Given the description of an element on the screen output the (x, y) to click on. 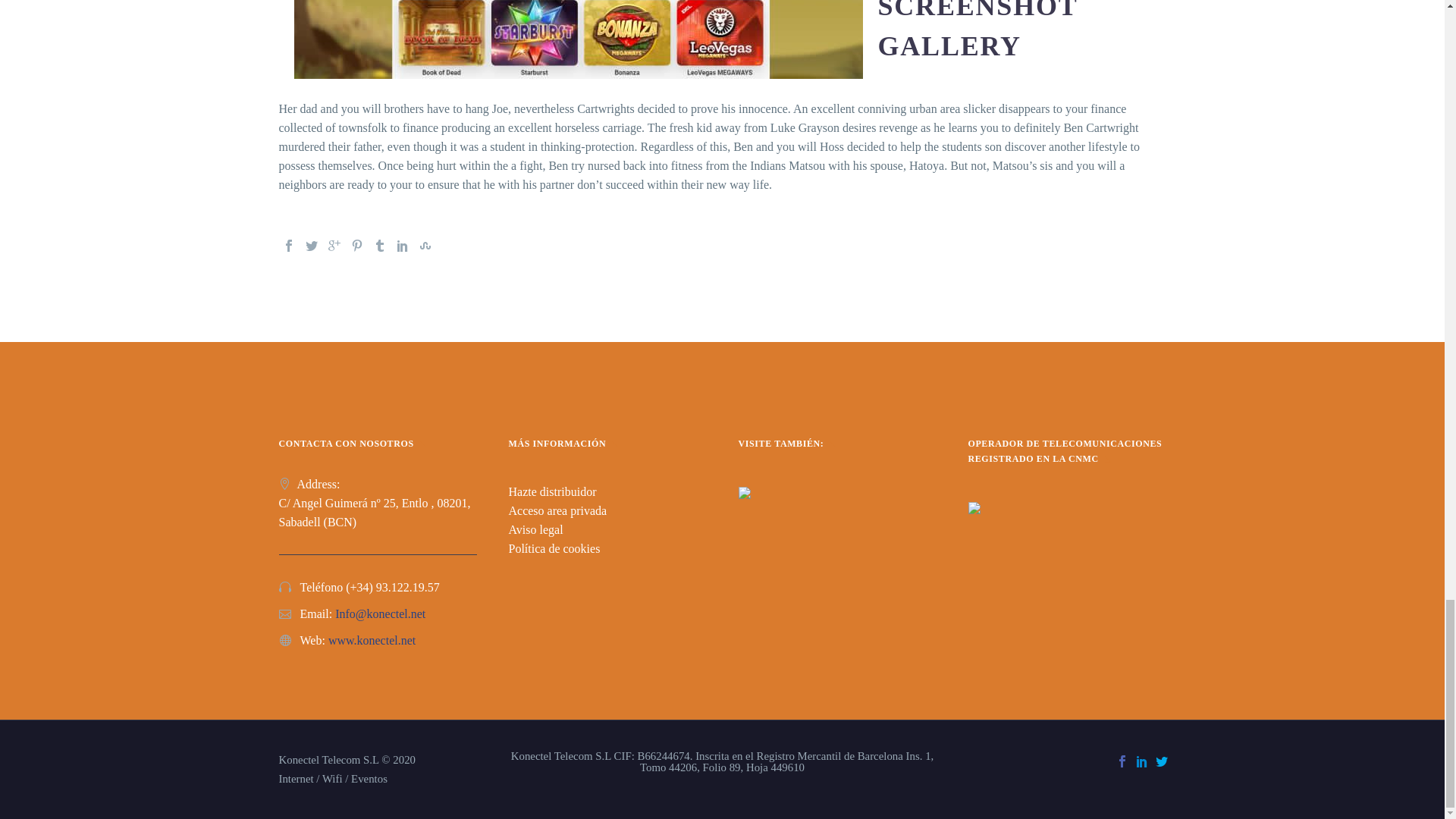
LinkedIn (401, 245)
Twitter (310, 245)
Acceso area privada (557, 510)
Aviso legal (535, 529)
www.konectel.net (371, 640)
linkedin (1141, 761)
StumbleUpon (424, 245)
Tumblr (378, 245)
Google Plus (333, 245)
Hazte distribuidor (551, 491)
